Given the description of an element on the screen output the (x, y) to click on. 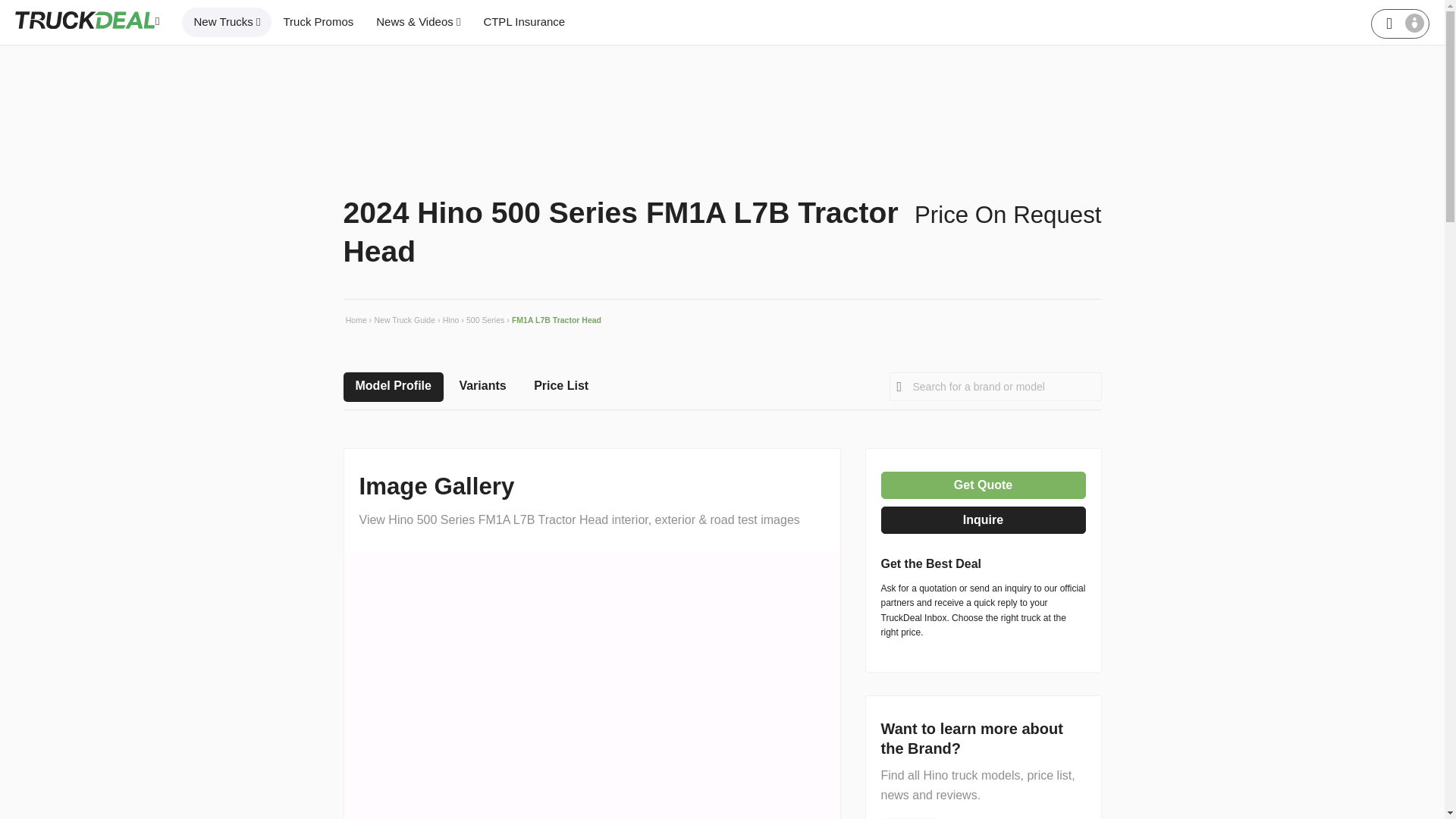
CTPL Insurance (523, 21)
Truck Promos (317, 21)
Model Profile (392, 386)
New Trucks (226, 21)
Variants (482, 386)
Price List (560, 386)
FM1A L7B Tractor Head (555, 320)
